Given the description of an element on the screen output the (x, y) to click on. 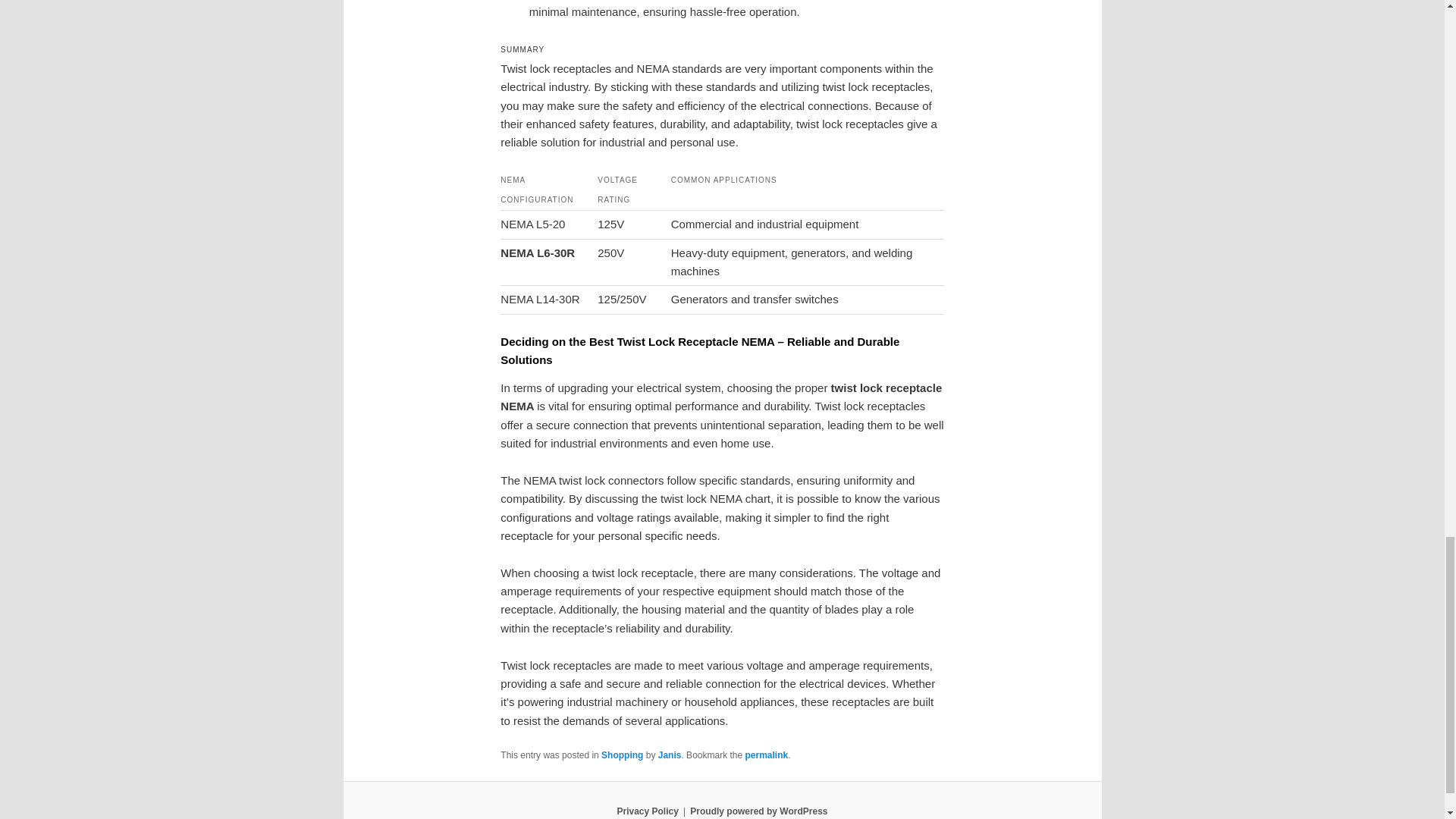
Semantic Personal Publishing Platform (758, 810)
Proudly powered by WordPress (758, 810)
Shopping (622, 755)
Janis (669, 755)
permalink (765, 755)
Privacy Policy (646, 810)
